Given the description of an element on the screen output the (x, y) to click on. 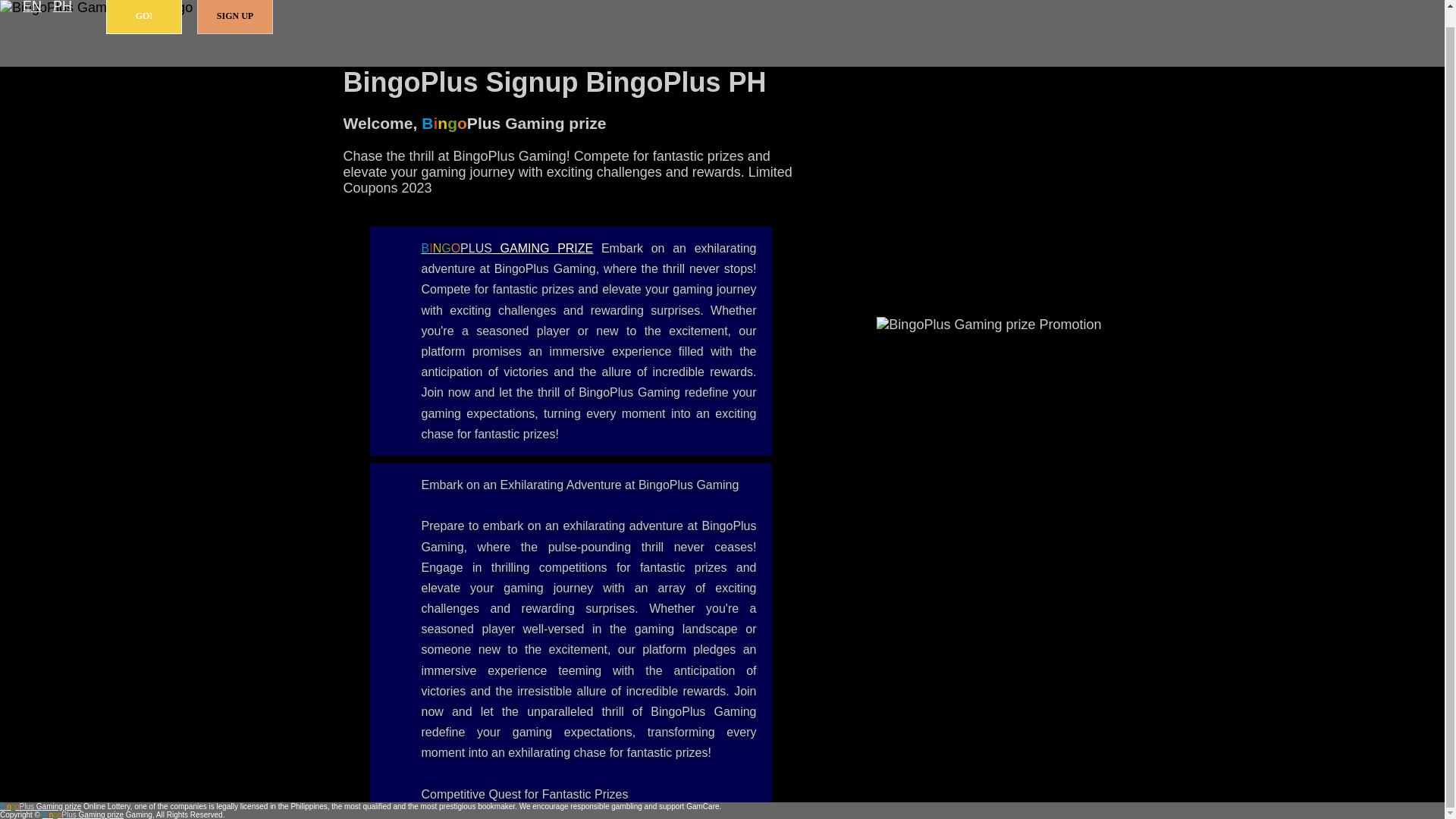
English - Filipino (32, 7)
Pilipinas - Filipino (61, 7)
BingoPlus Gaming prize (40, 806)
BINGOPLUS GAMING PRIZE (508, 247)
BingoPlus Gaming prize (508, 247)
SIGN UP (234, 17)
EN (32, 7)
GO! (144, 17)
PH (61, 7)
